Given the description of an element on the screen output the (x, y) to click on. 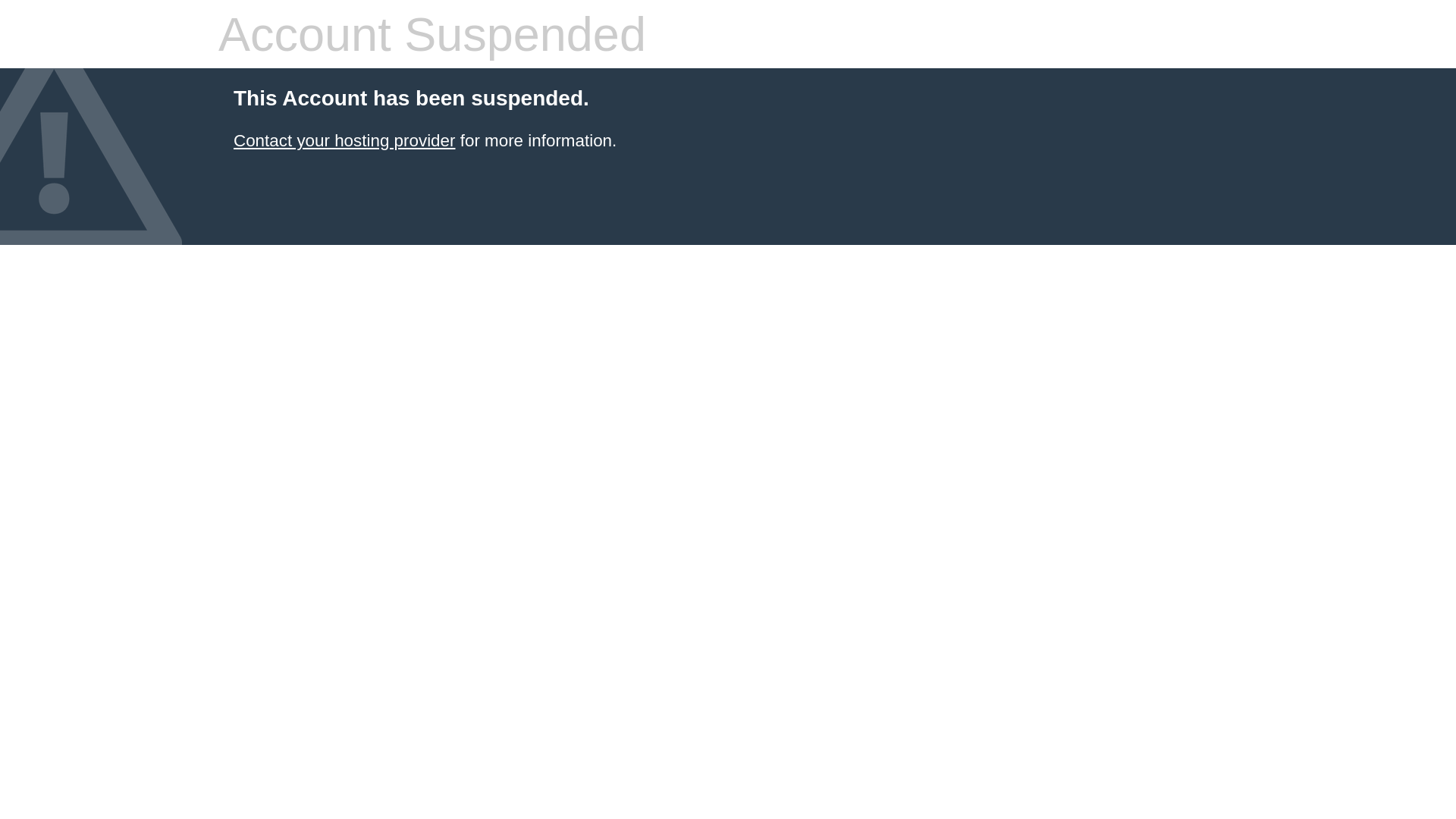
Contact your hosting provider Element type: text (344, 140)
